Given the description of an element on the screen output the (x, y) to click on. 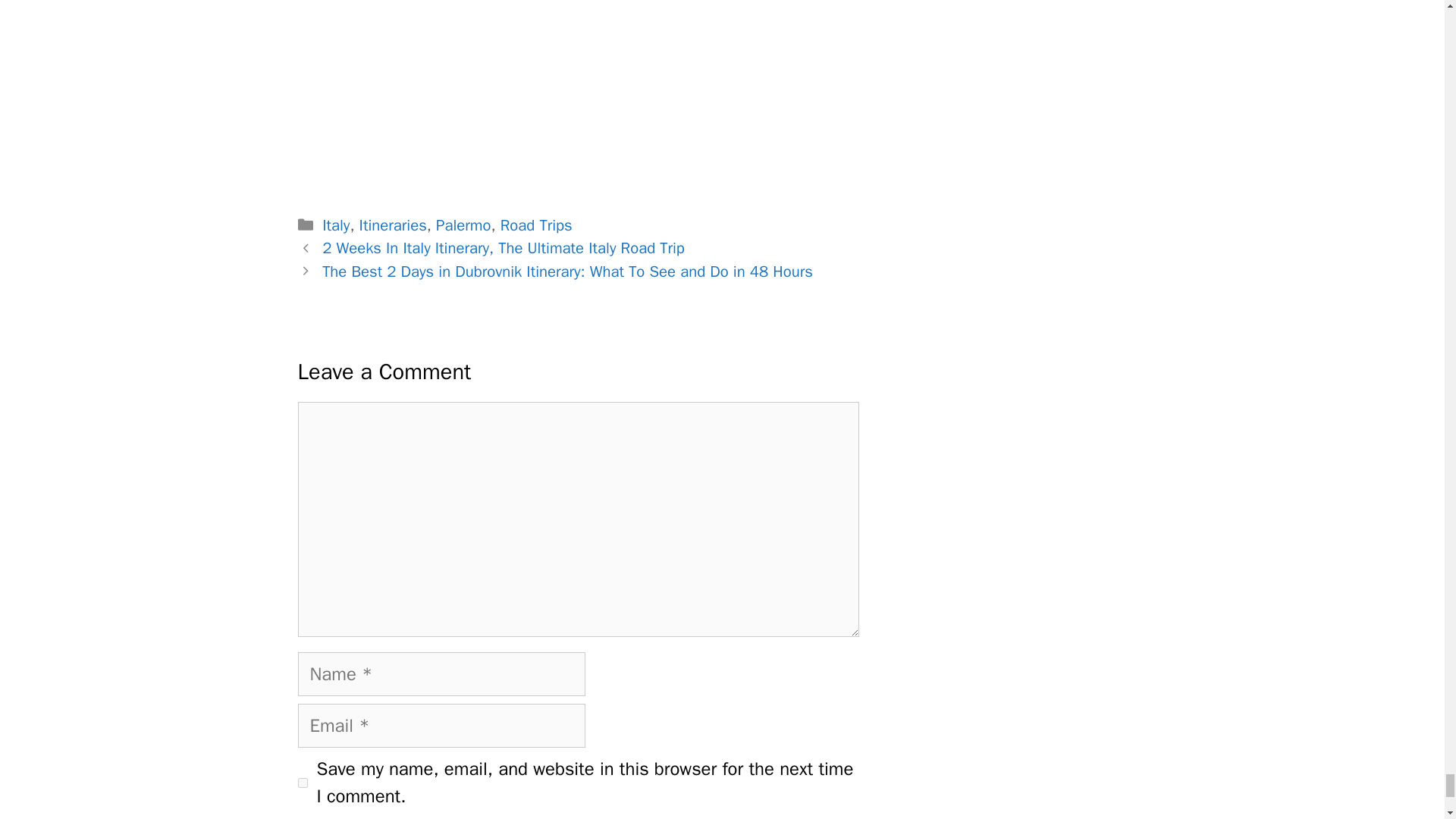
yes (302, 782)
